Given the description of an element on the screen output the (x, y) to click on. 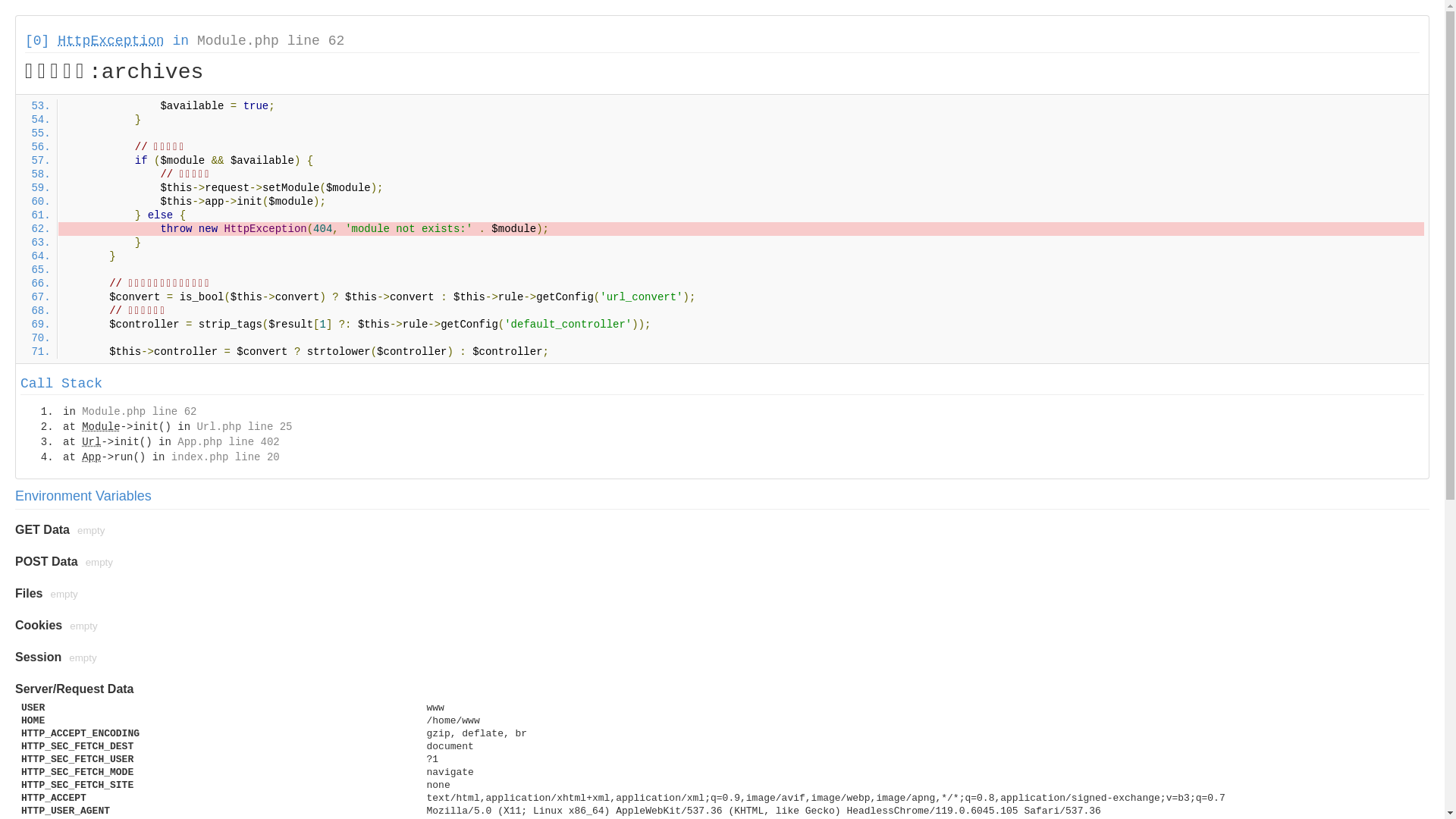
Url.php line 25 Element type: text (243, 426)
Module.php line 62 Element type: text (270, 40)
App.php line 402 Element type: text (228, 442)
Module.php line 62 Element type: text (138, 411)
index.php line 20 Element type: text (225, 457)
